Given the description of an element on the screen output the (x, y) to click on. 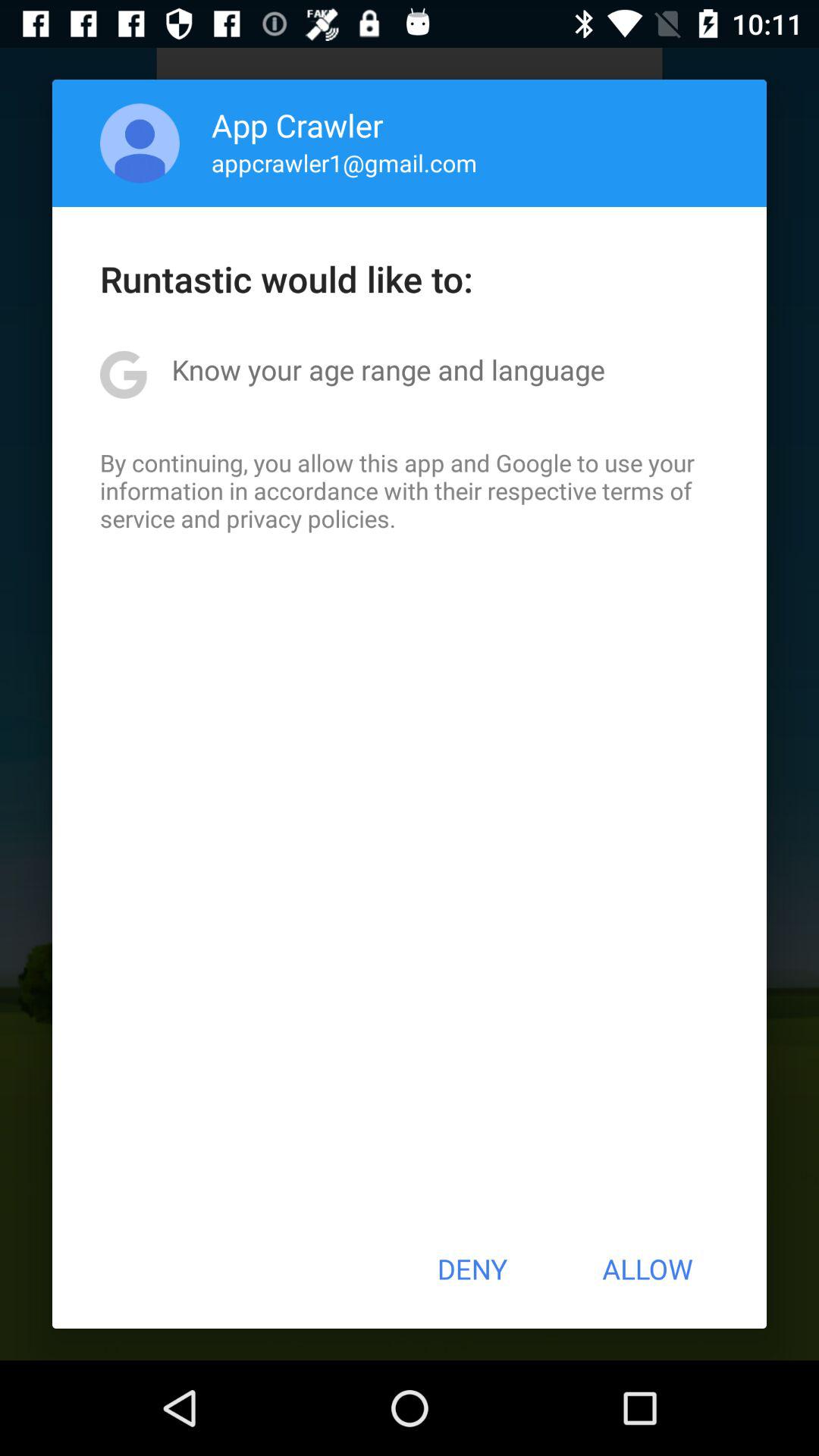
turn on the icon to the left of app crawler app (139, 143)
